Given the description of an element on the screen output the (x, y) to click on. 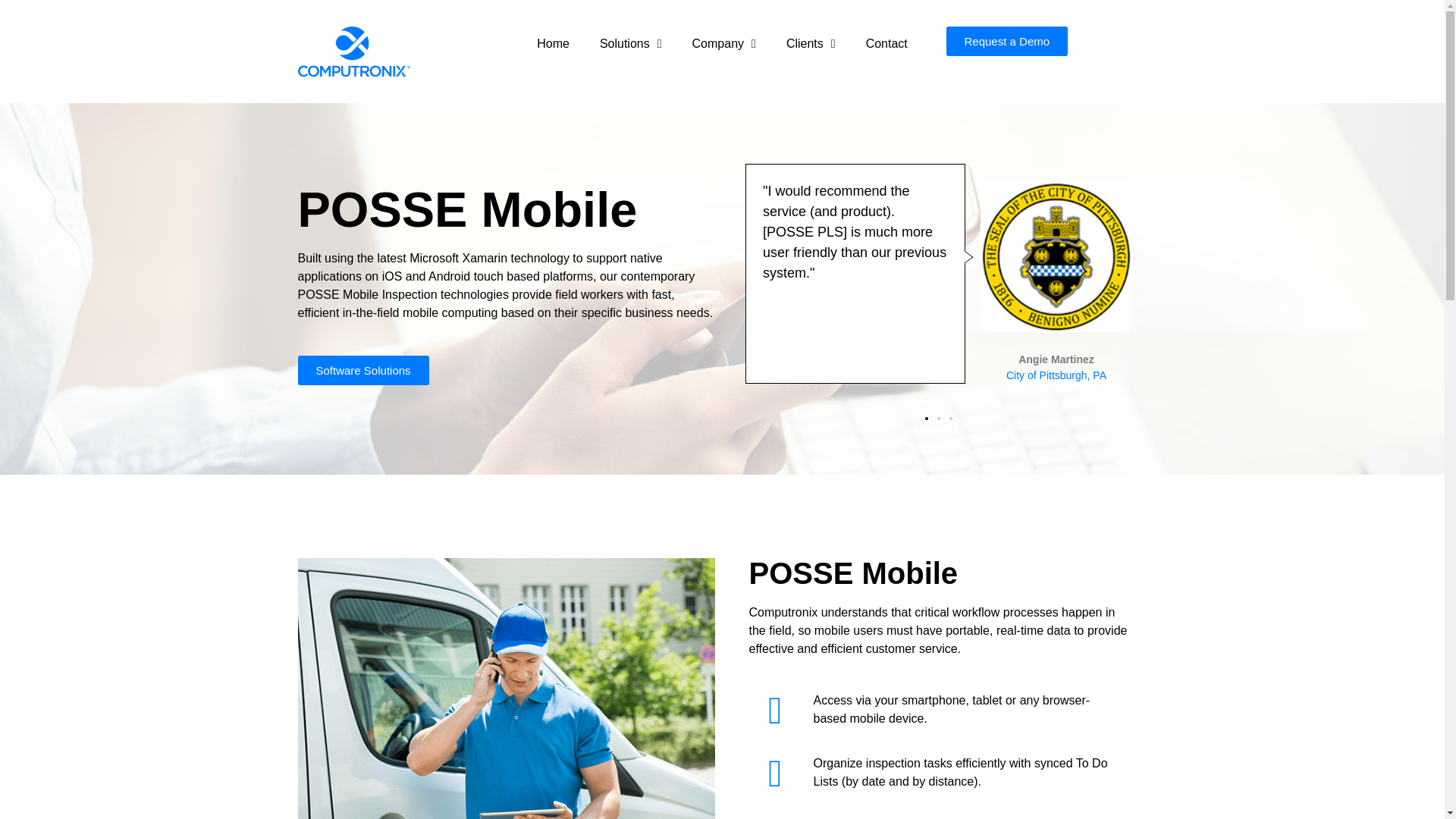
Contact (886, 43)
Home (553, 43)
Clients (810, 43)
Solutions (631, 43)
Company (724, 43)
